Given the description of an element on the screen output the (x, y) to click on. 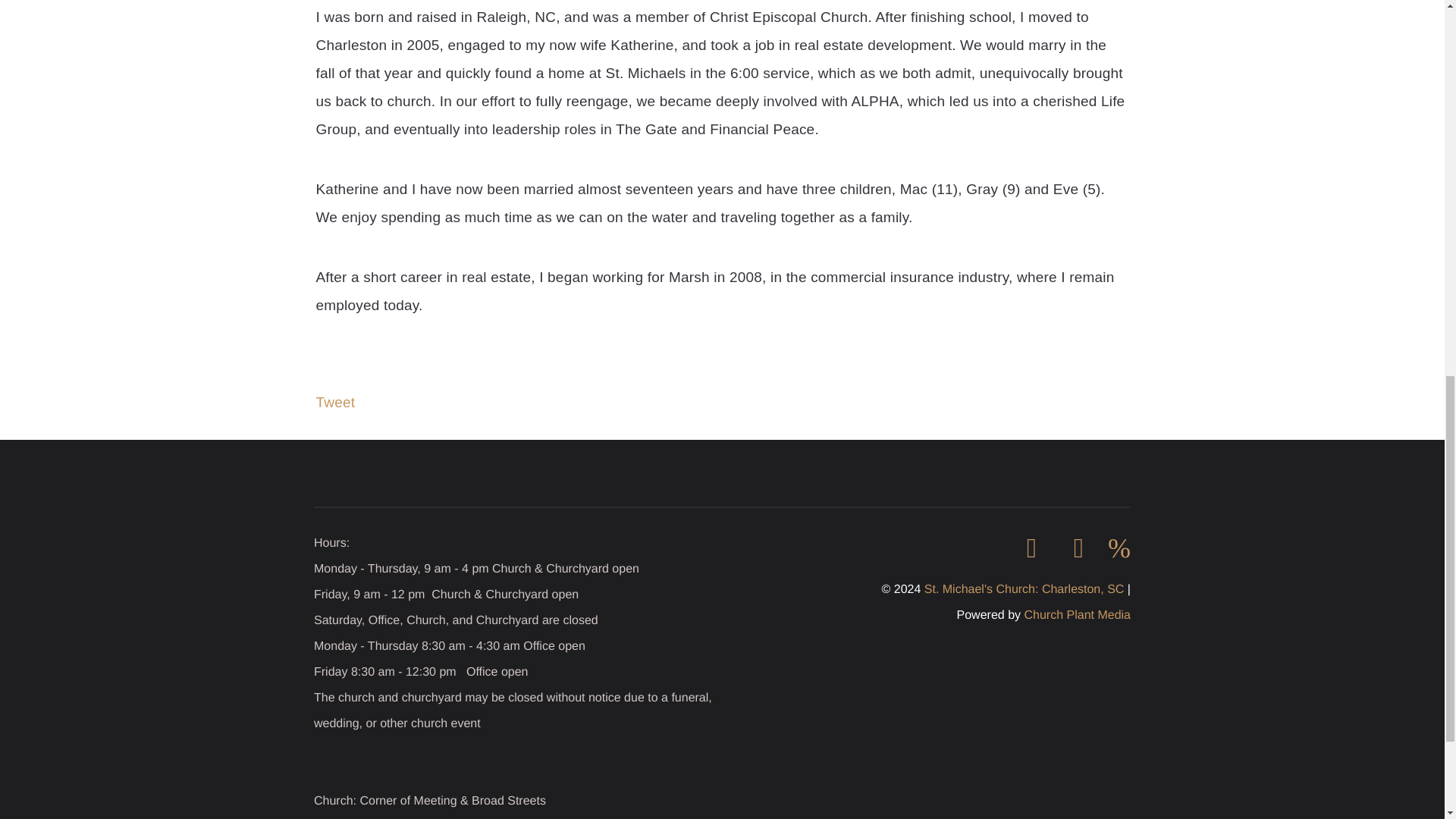
Tweet (335, 402)
